Given the description of an element on the screen output the (x, y) to click on. 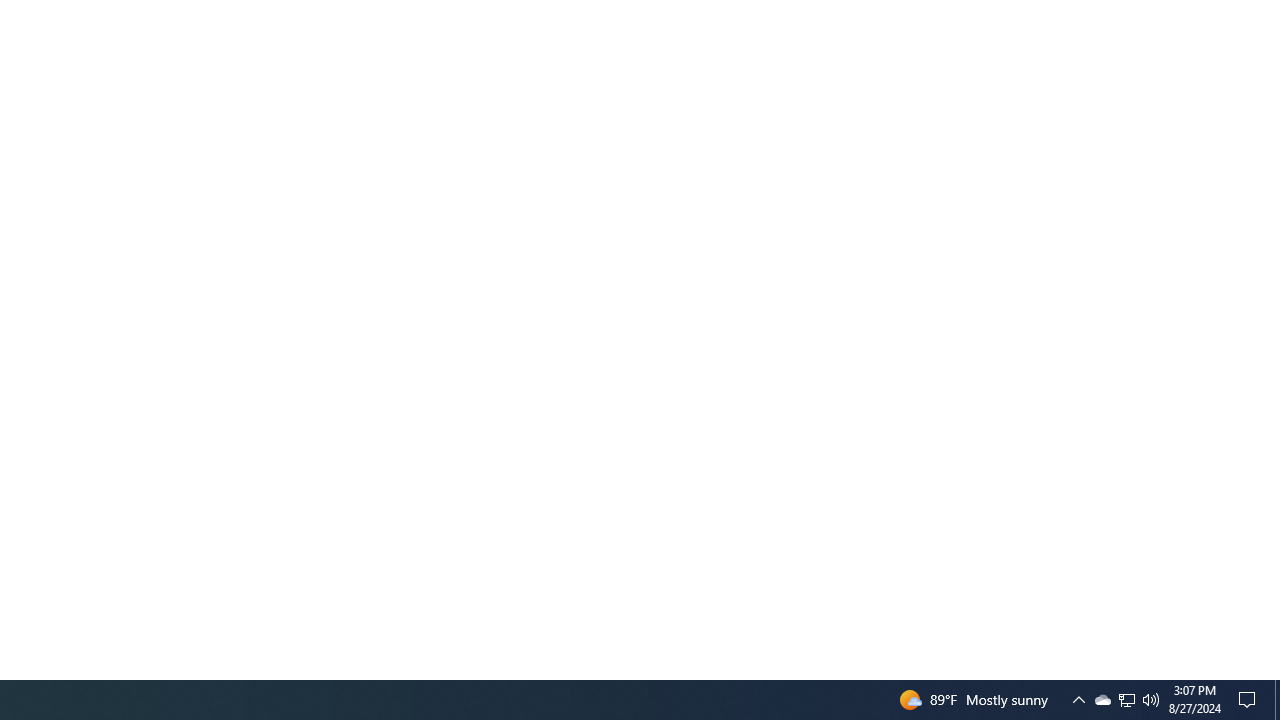
Action Center, No new notifications (1250, 699)
Notification Chevron (1078, 699)
Q2790: 100% (1151, 699)
Show desktop (1126, 699)
User Promoted Notification Area (1102, 699)
